Given the description of an element on the screen output the (x, y) to click on. 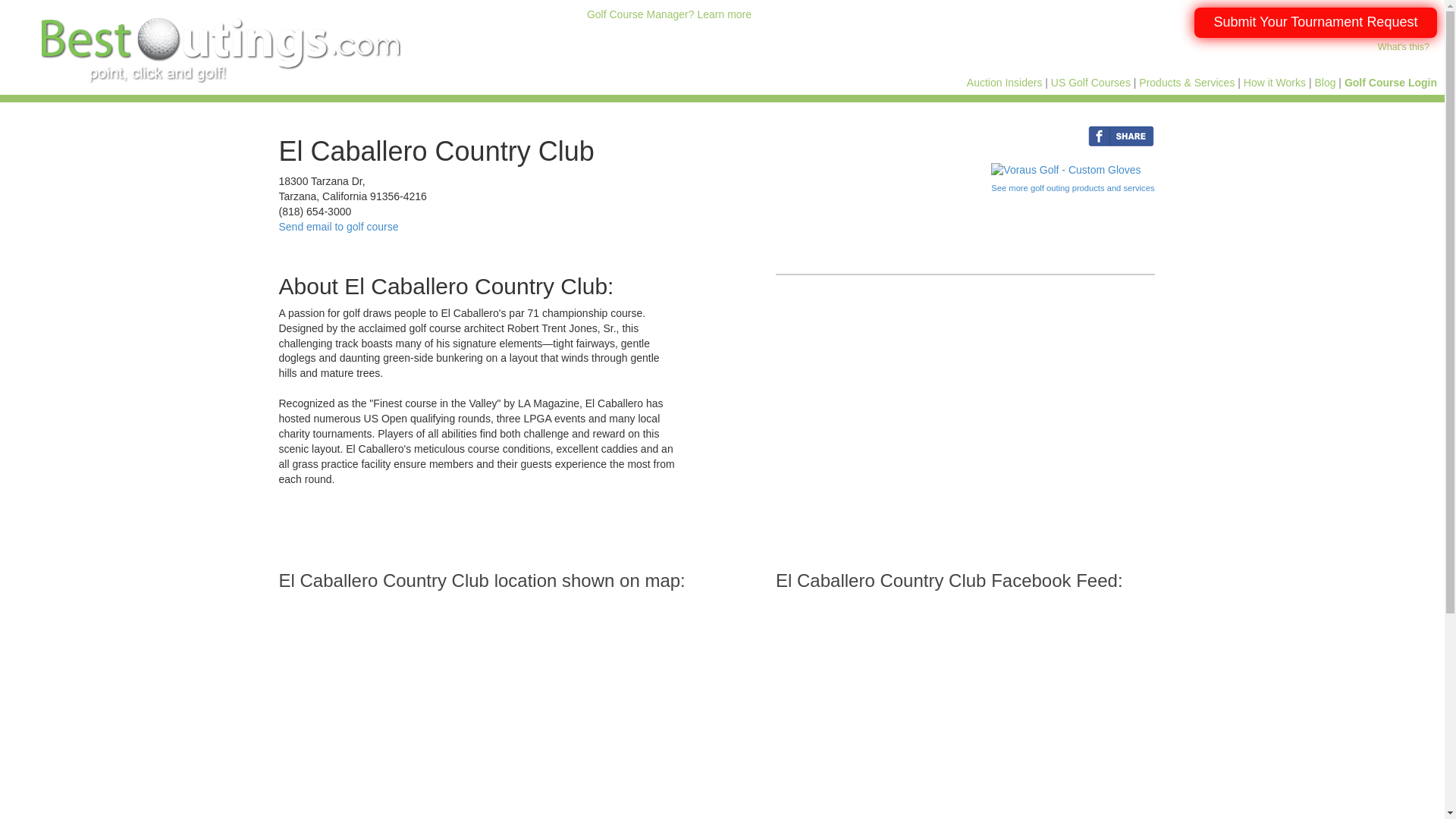
What's this? (1403, 46)
Voraus Golf - Custom Gloves (1065, 169)
...and we'll send it to all of the top area golf courses! (1315, 22)
See more golf outing products and services (1072, 187)
Sell more outings and efficiently manage donation requests! (668, 14)
Auction Insiders (1004, 82)
US Golf Courses (1091, 82)
Golf Course Login (1390, 82)
How it Works (1274, 82)
Submit Your Tournament Request (1315, 22)
